Given the description of an element on the screen output the (x, y) to click on. 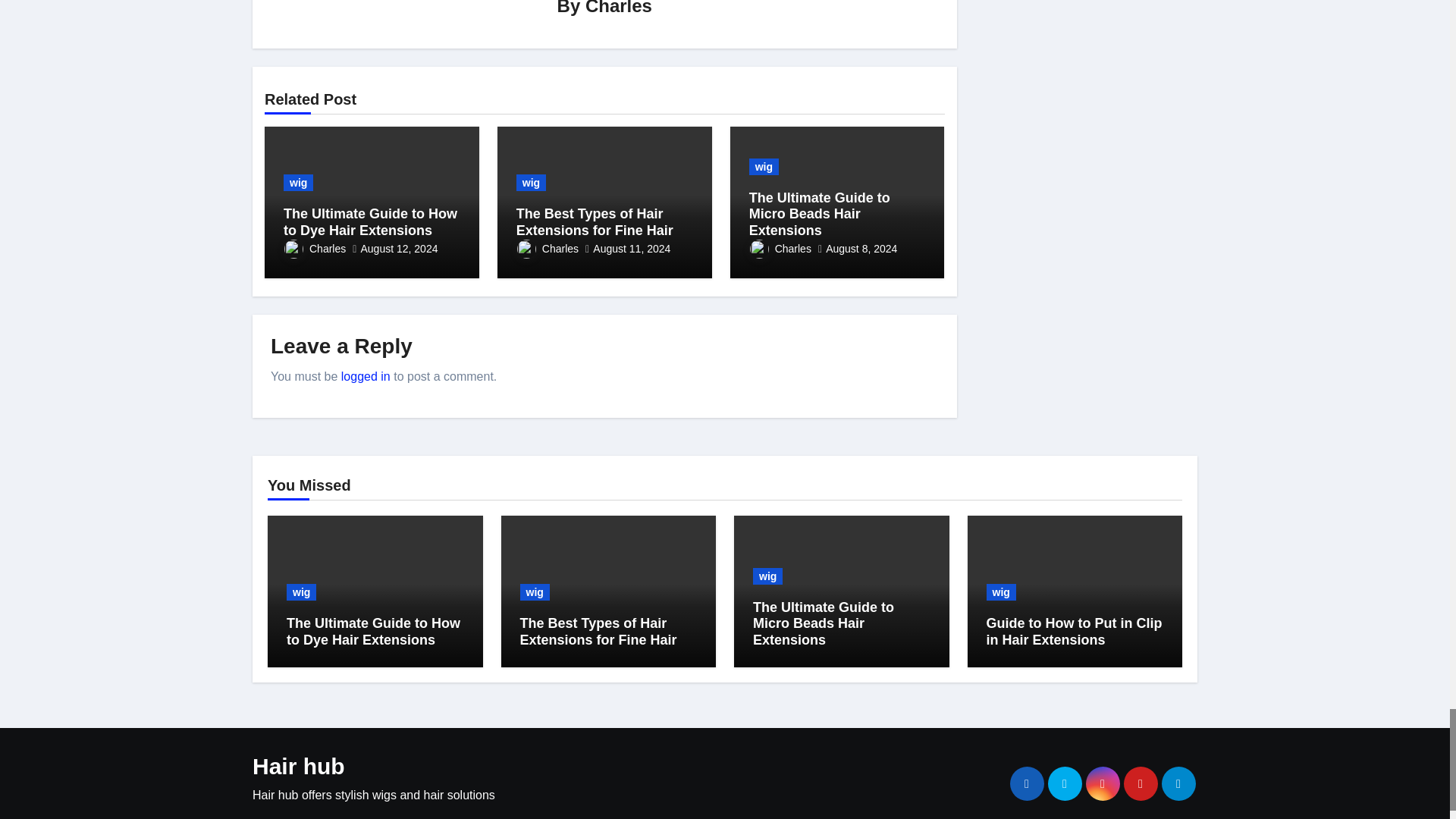
Permalink to: Guide to How to Put in Clip in Hair Extensions (1073, 631)
